Given the description of an element on the screen output the (x, y) to click on. 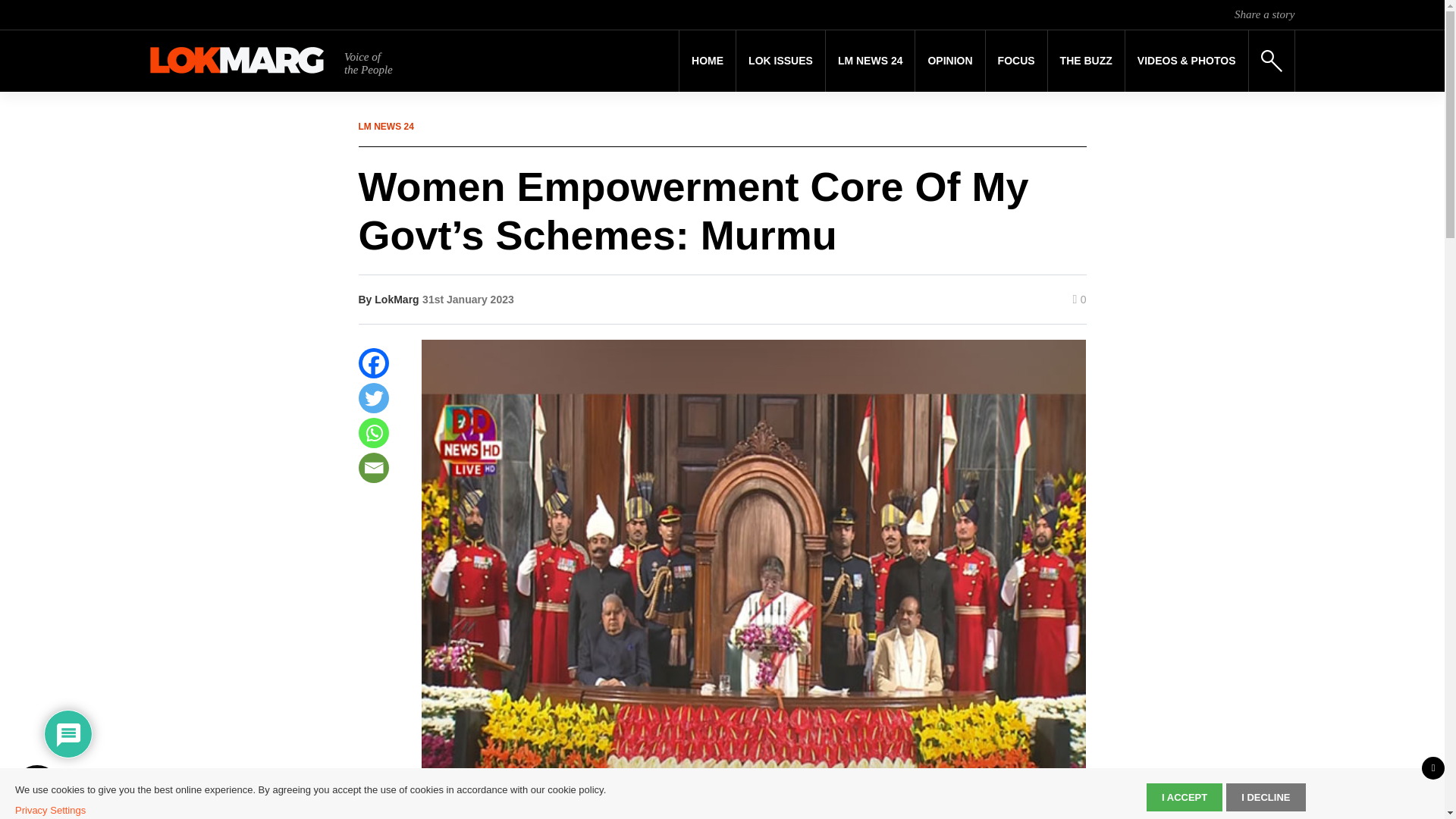
THE BUZZ (1086, 60)
FOCUS (1015, 60)
Share a story (1264, 14)
Lok Issues (780, 60)
Home (707, 60)
LM NEWS 24 (870, 60)
LM News 24 (870, 60)
Focus (1015, 60)
Twitter (373, 398)
OPINION (949, 60)
THE BUZZ (1086, 60)
Facebook (373, 363)
LOK ISSUES (780, 60)
Opinion (949, 60)
Whatsapp (373, 432)
